Given the description of an element on the screen output the (x, y) to click on. 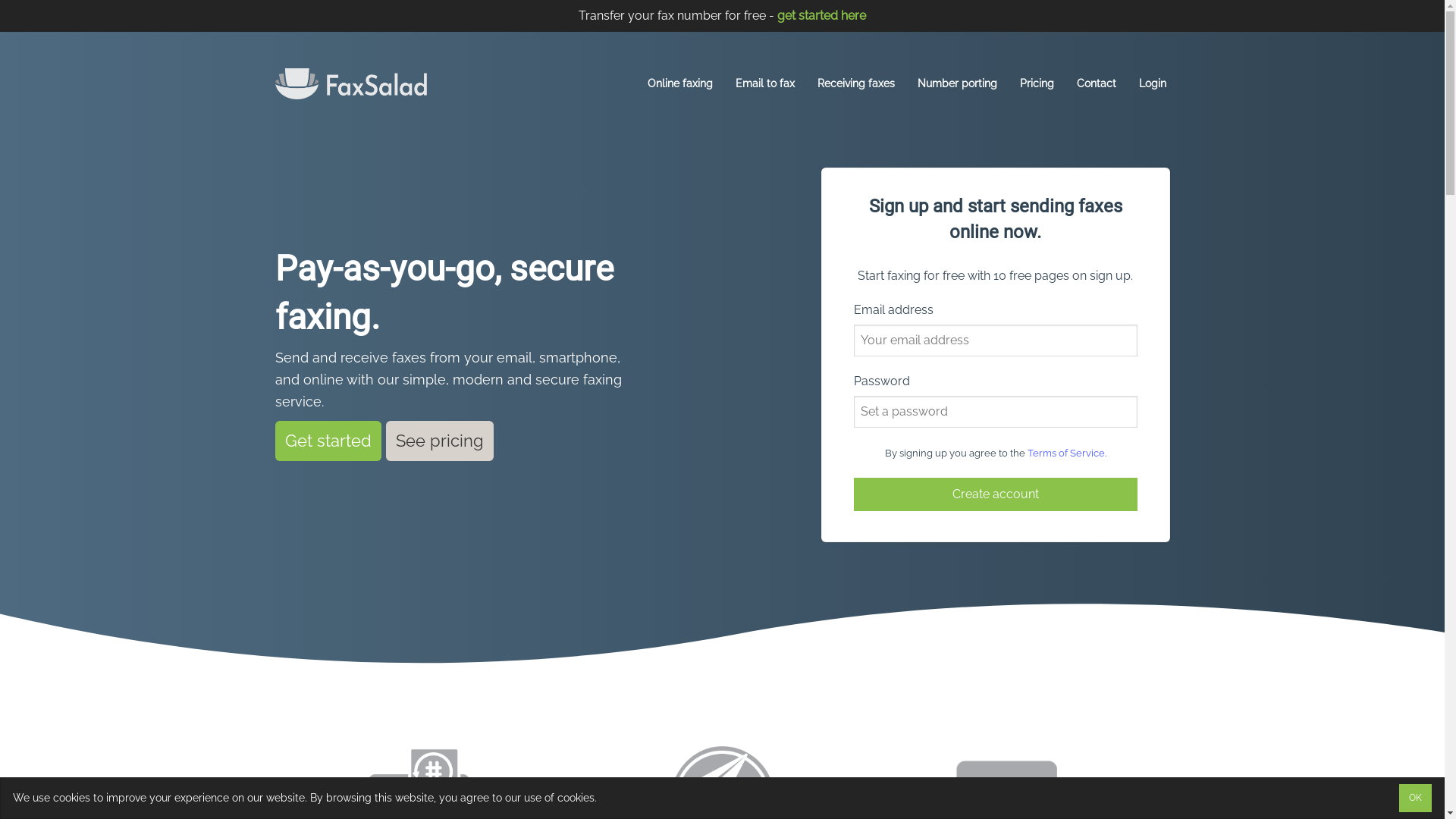
Get started Element type: text (327, 440)
Login Element type: text (1152, 83)
Contact Element type: text (1096, 83)
Create account Element type: text (995, 494)
Receiving faxes Element type: text (855, 83)
See pricing Element type: text (439, 440)
Online faxing Element type: text (679, 83)
Number porting Element type: text (957, 83)
Pricing Element type: text (1036, 83)
Email to fax Element type: text (764, 83)
get started here Element type: text (821, 15)
OK Element type: text (1415, 798)
Terms of Service Element type: text (1065, 452)
